Given the description of an element on the screen output the (x, y) to click on. 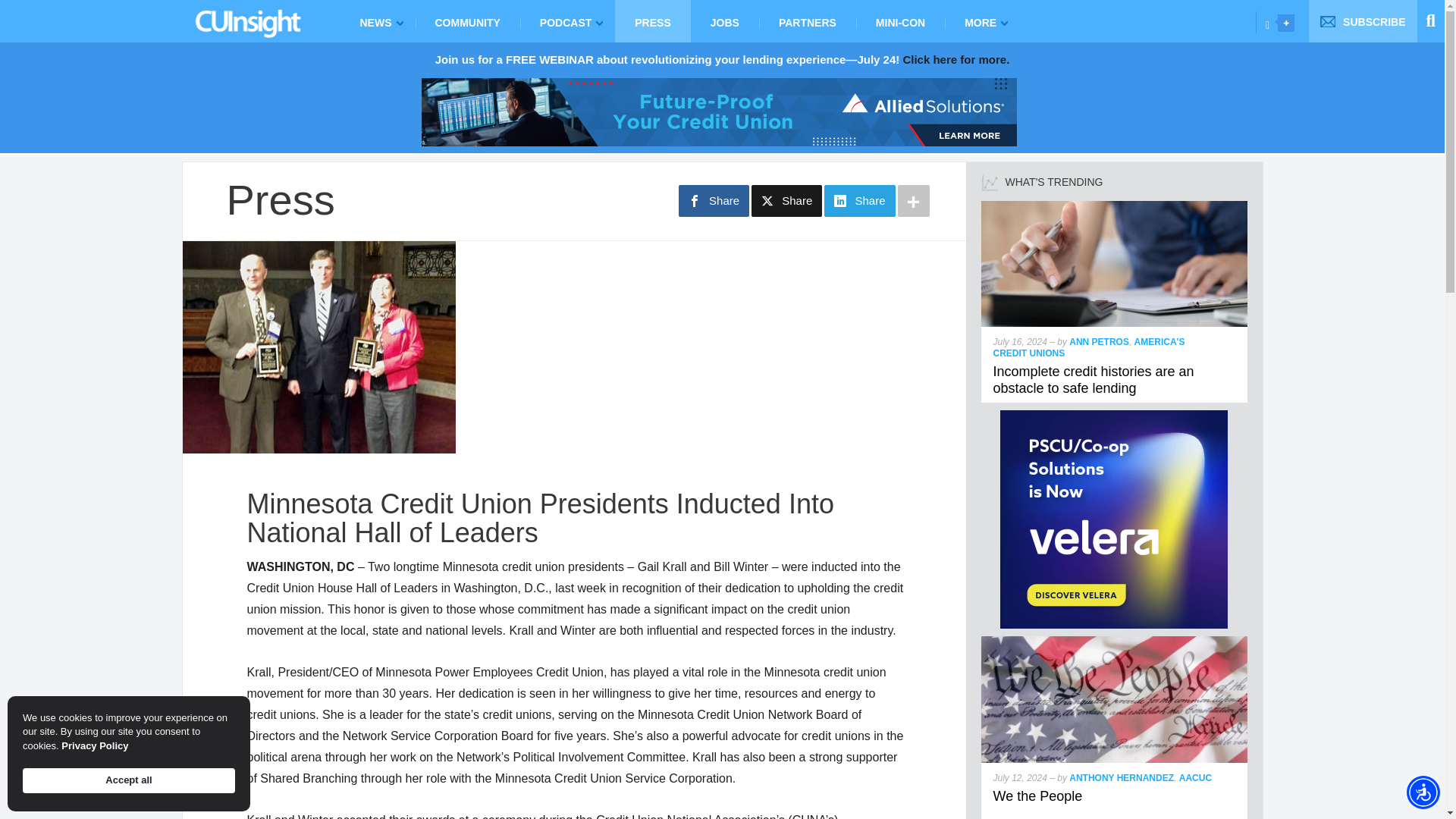
COMMUNITY (466, 21)
JOBS (724, 21)
Share (786, 201)
We the People (1037, 795)
SUBSCRIBE (1362, 21)
Incomplete credit histories are an obstacle to safe lending (1114, 206)
MINI-CON (900, 21)
PRESS (652, 21)
Share (713, 201)
PARTNERS (807, 21)
Accessibility Menu (1422, 792)
PODCAST (566, 21)
We the People (1114, 642)
NEWS (376, 21)
Incomplete credit histories are an obstacle to safe lending (1092, 379)
